Given the description of an element on the screen output the (x, y) to click on. 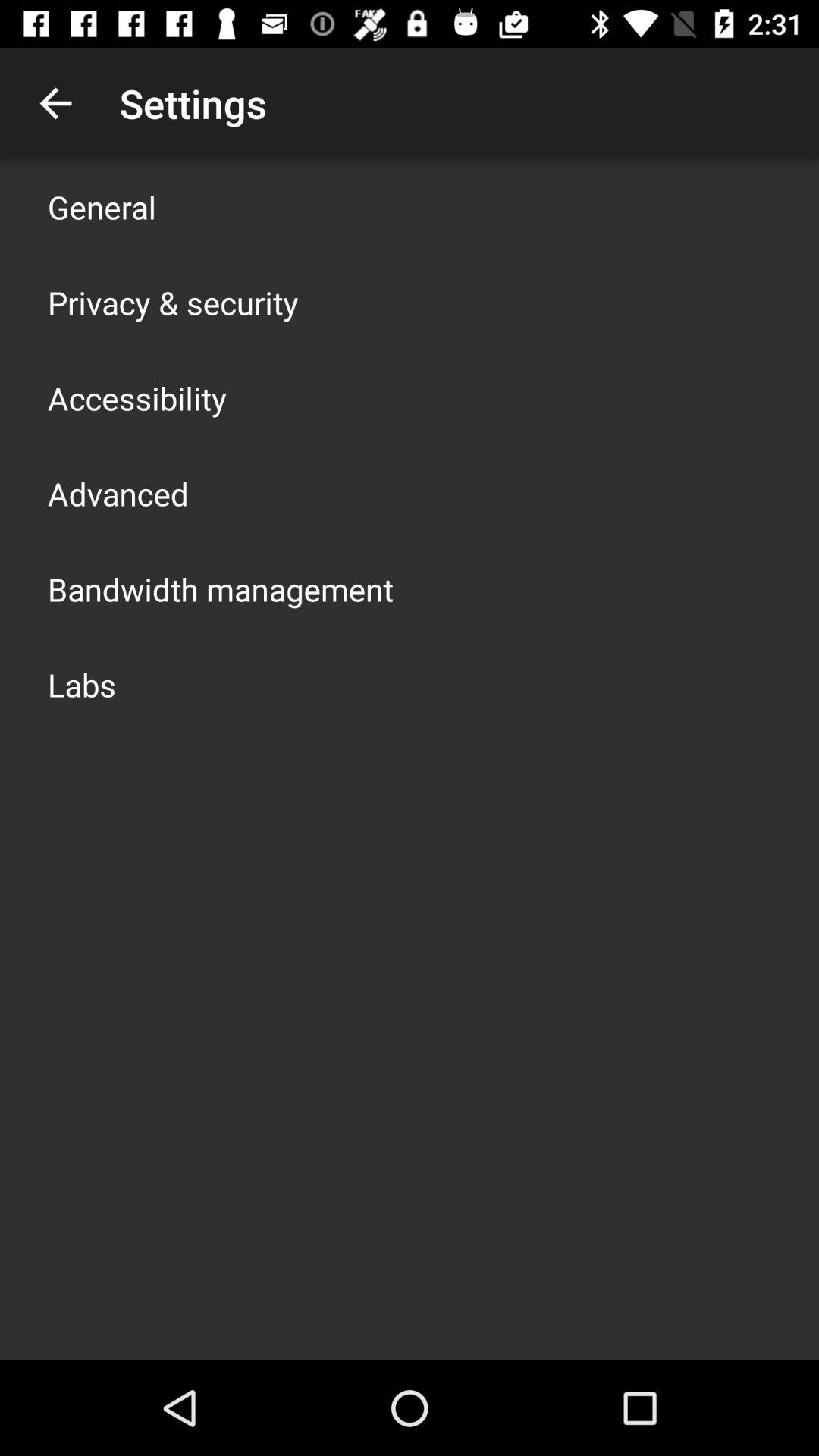
press privacy & security item (172, 302)
